Given the description of an element on the screen output the (x, y) to click on. 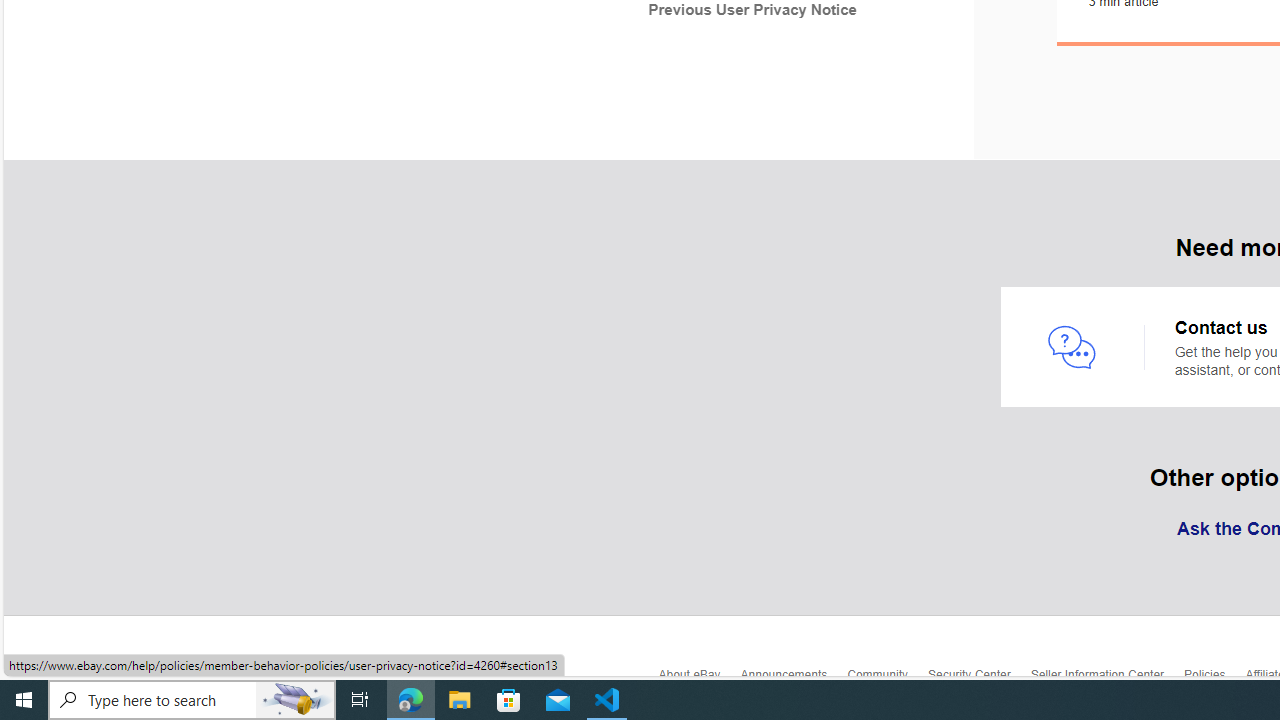
Seller Information Center (1107, 678)
Security Center (978, 678)
Announcements (793, 679)
Security Center (978, 679)
About eBay (699, 678)
Seller Information Center (1107, 679)
Announcements (793, 678)
Policies (1214, 678)
Community (887, 679)
Policies (1214, 679)
About eBay (699, 679)
Community (887, 678)
